Given the description of an element on the screen output the (x, y) to click on. 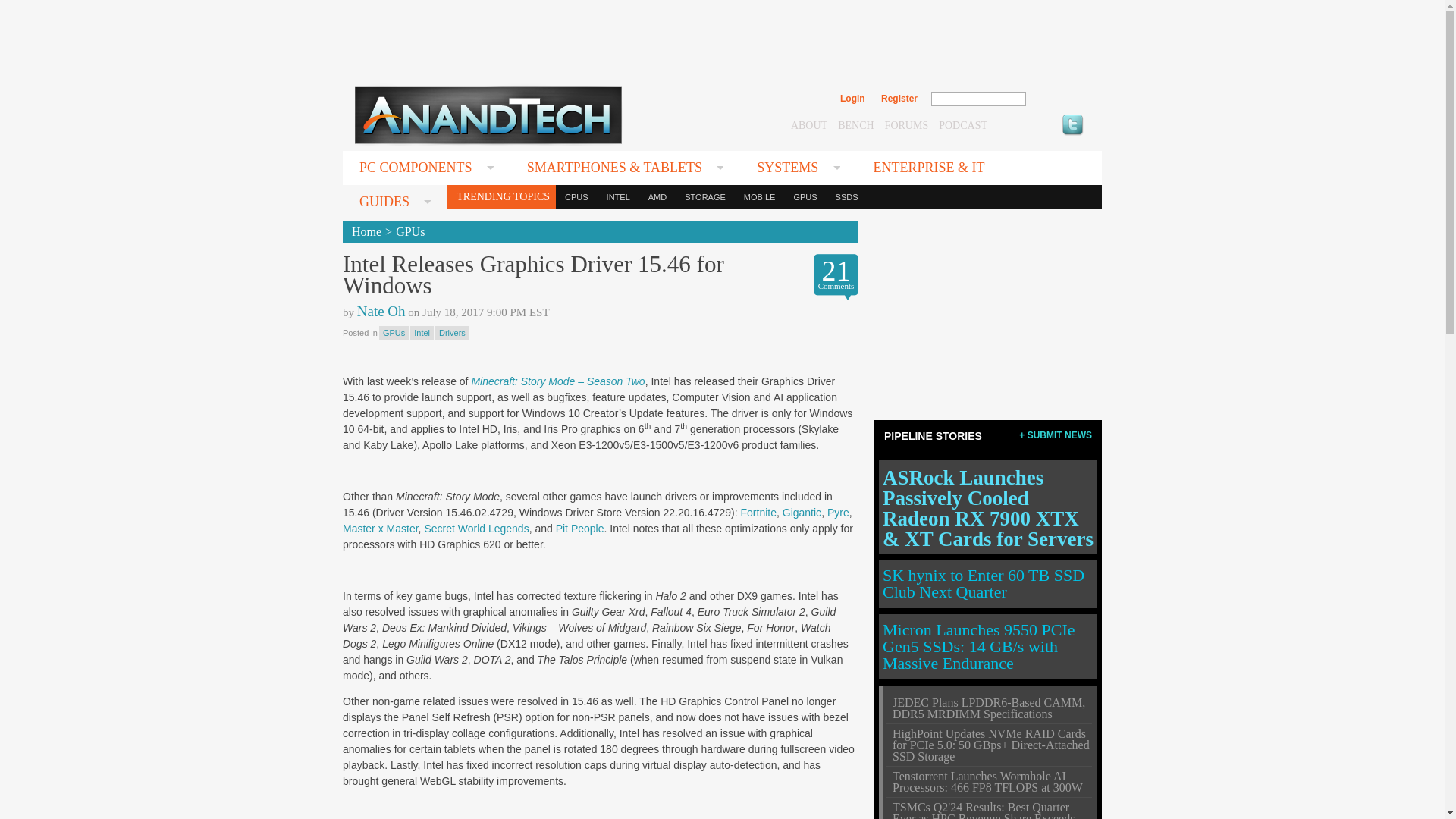
ABOUT (808, 125)
Login (852, 98)
PODCAST (963, 125)
Register (898, 98)
search (1059, 98)
BENCH (855, 125)
search (1059, 98)
search (1059, 98)
FORUMS (906, 125)
